Given the description of an element on the screen output the (x, y) to click on. 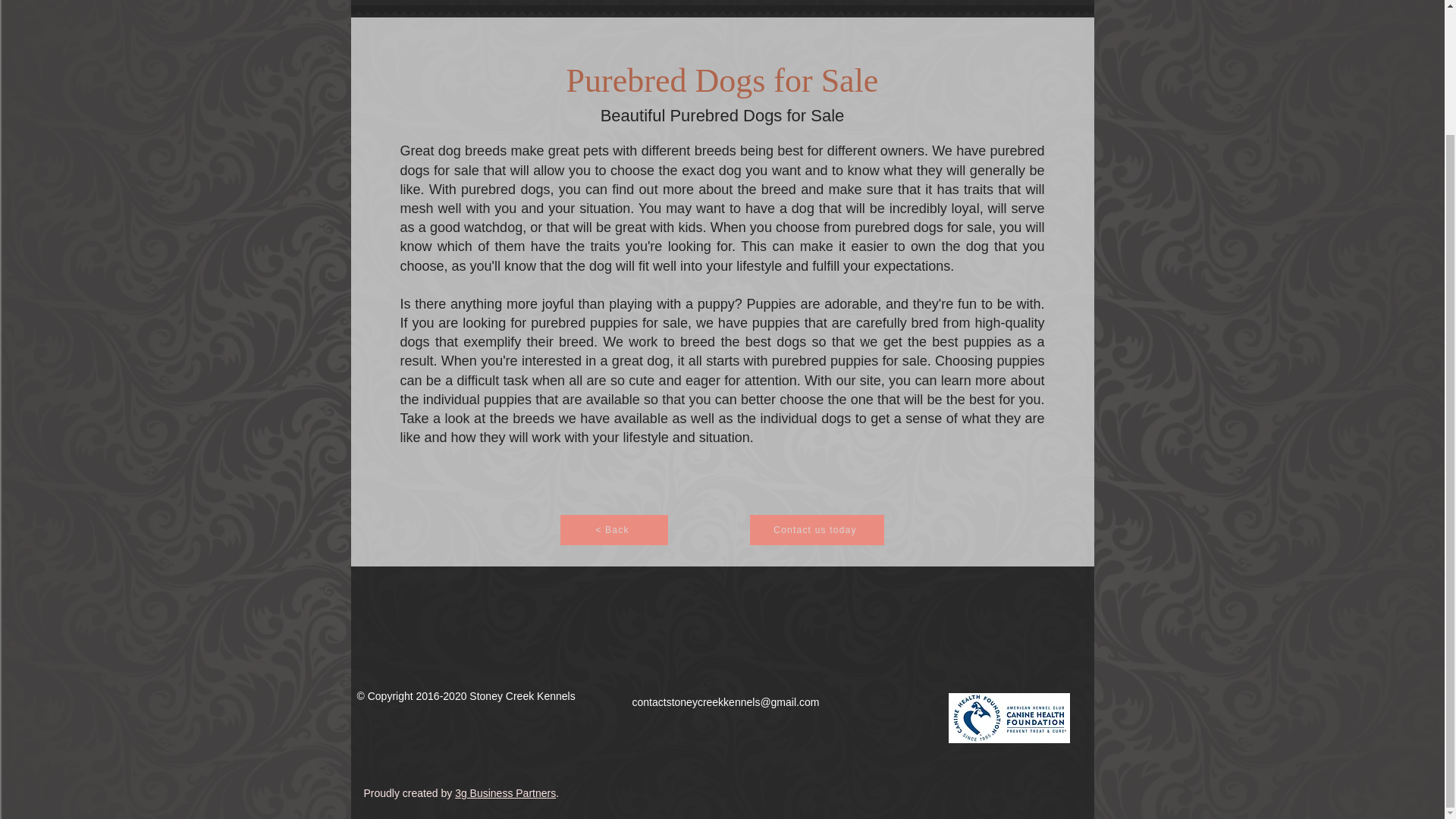
Contact us today (816, 530)
3g Business Partners (505, 793)
Stoney Creek Kennels (721, 2)
